Given the description of an element on the screen output the (x, y) to click on. 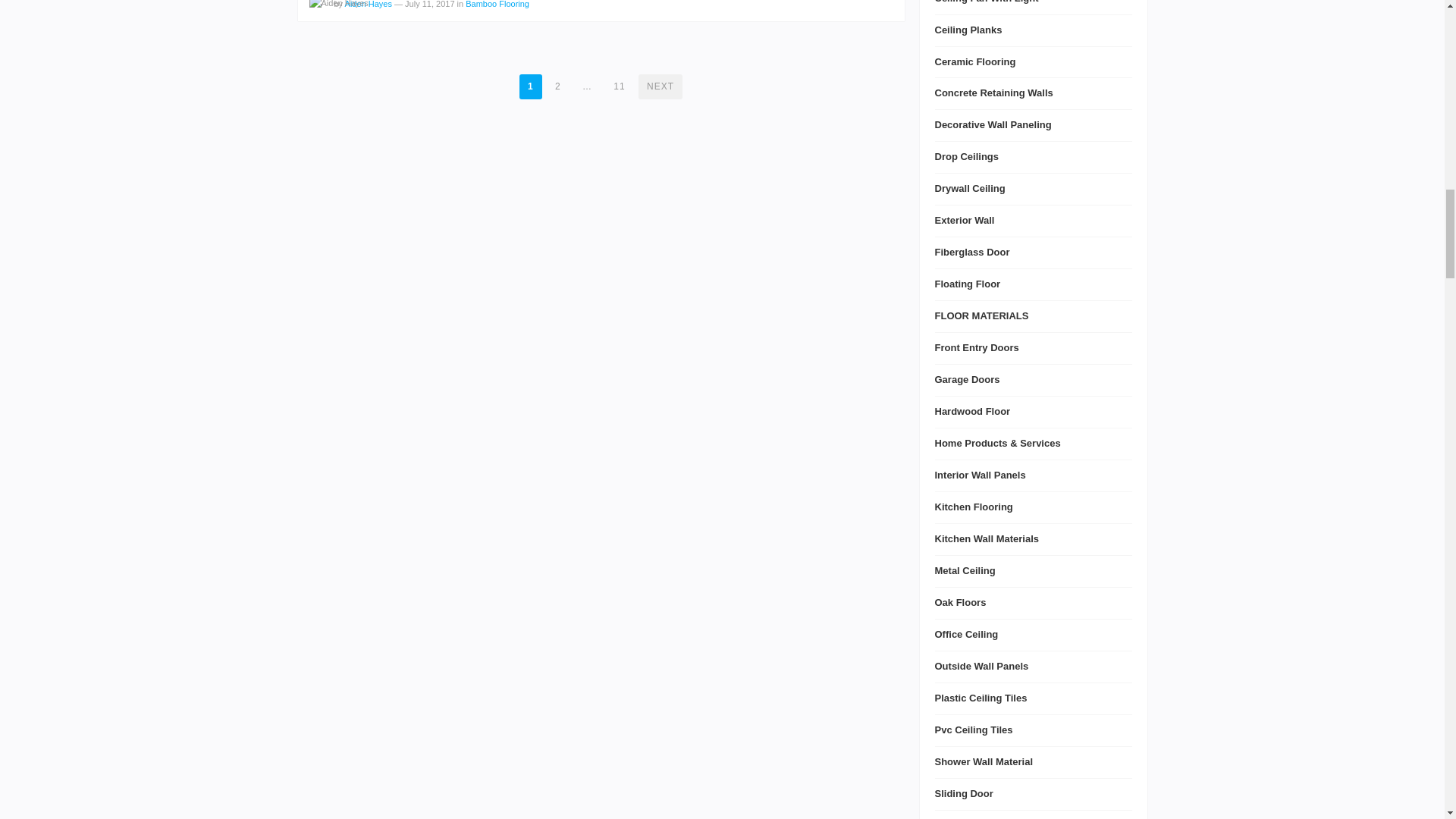
View all posts by Aiden Hayes (338, 5)
